Given the description of an element on the screen output the (x, y) to click on. 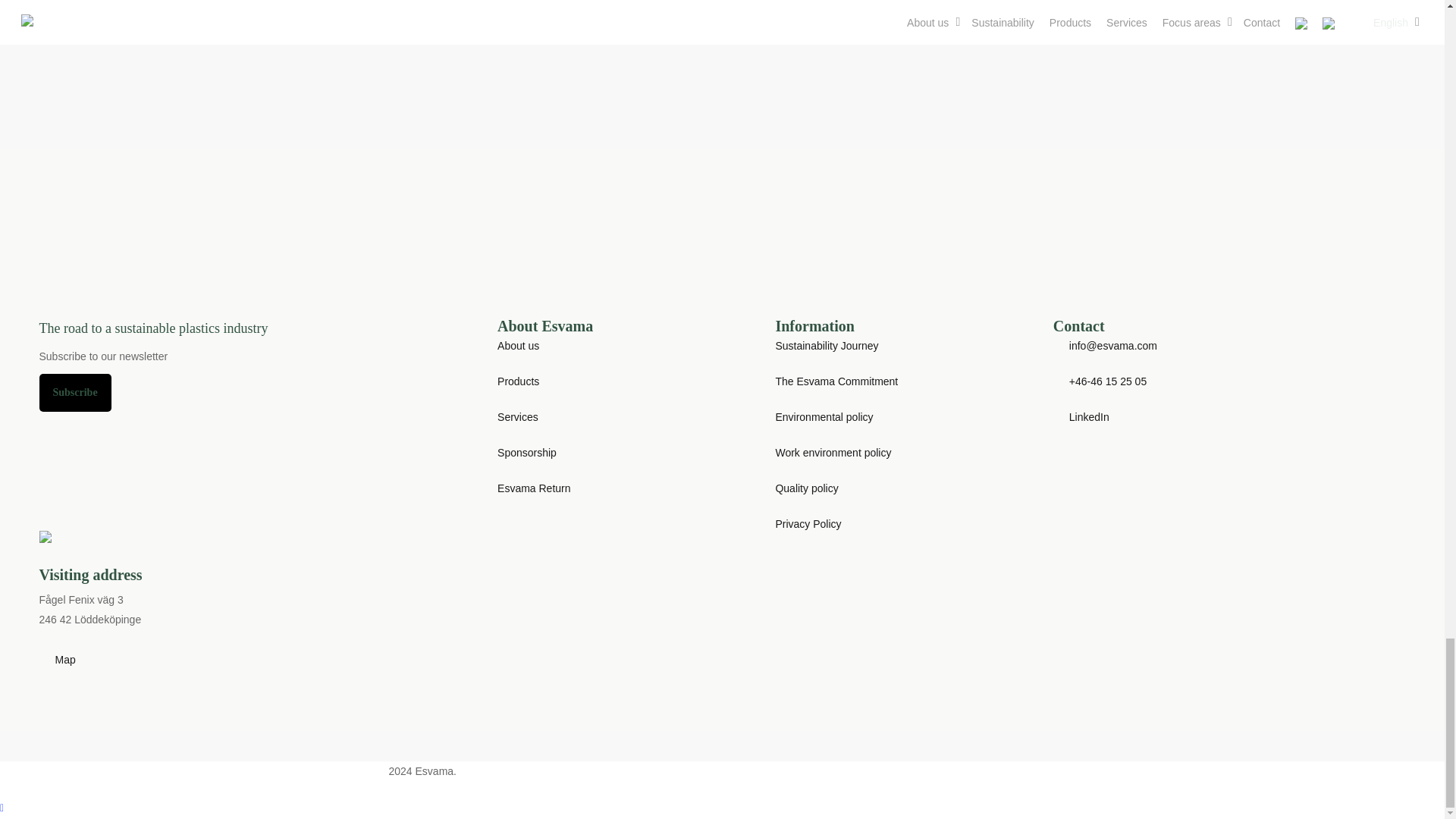
Sustainability Journey (825, 345)
Sponsorship (526, 452)
Services (517, 417)
Subscribe (75, 392)
About us (517, 345)
Esvama Return (533, 488)
Products (517, 381)
